Given the description of an element on the screen output the (x, y) to click on. 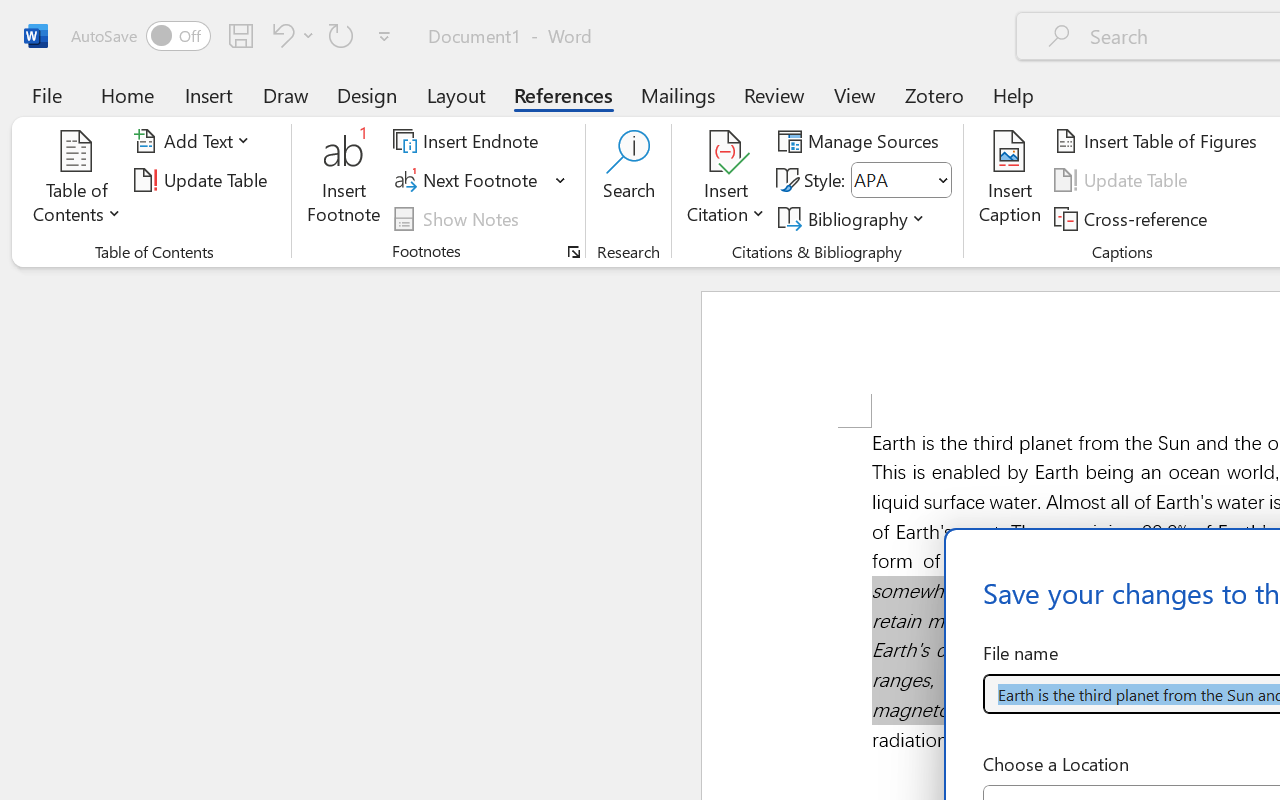
Cross-reference... (1133, 218)
Next Footnote (468, 179)
Bibliography (854, 218)
Undo Italic (280, 35)
Repeat Doc Close (341, 35)
Table of Contents (77, 179)
Next Footnote (479, 179)
Footnote and Endnote Dialog... (573, 252)
